Given the description of an element on the screen output the (x, y) to click on. 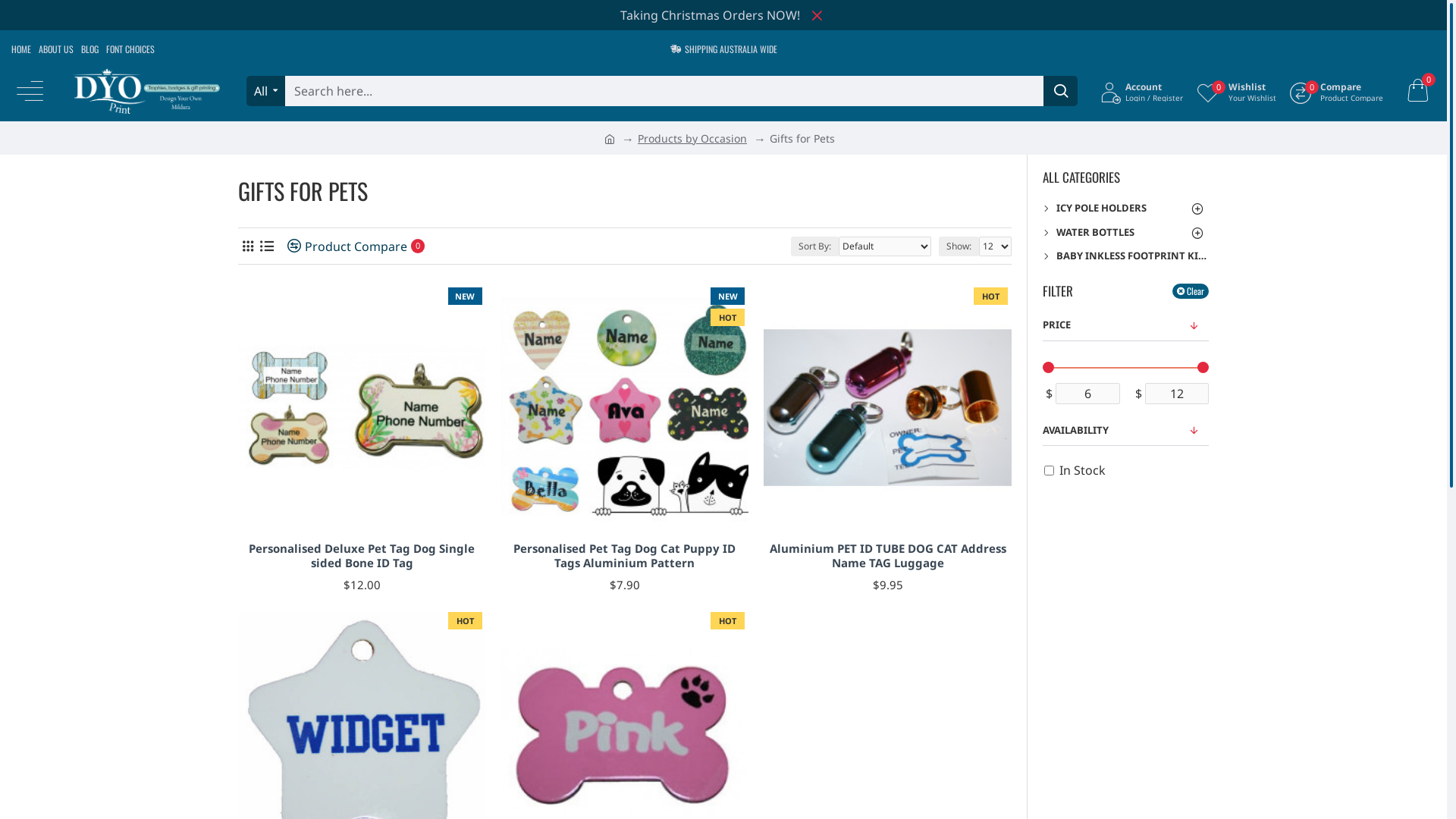
ABOUT US Element type: text (55, 48)
BABY INKLESS FOOTPRINT KITS Element type: text (1125, 256)
ICY POLE HOLDERS Element type: text (1125, 208)
DYO Print  Element type: hover (145, 90)
AVAILABILITY Element type: text (1125, 430)
Personalised Deluxe Pet Tag Dog Single sided Bone ID Tag Element type: hover (362, 407)
Aluminium PET ID TUBE DOG CAT Address Name TAG Luggage  Element type: hover (887, 407)
PRICE Element type: text (1125, 325)
Compare
Product Compare
0 Element type: text (1336, 90)
Gifts for Pets Element type: text (801, 138)
BLOG Element type: text (89, 48)
Wishlist
Your Wishlist
0 Element type: text (1236, 90)
Products by Occasion Element type: text (691, 138)
FONT CHOICES Element type: text (130, 48)
Personalised Pet Tag Dog Cat Puppy ID Tags Aluminium Pattern Element type: hover (625, 407)
0 Element type: text (1416, 90)
Personalised Deluxe Pet Tag Dog Single sided Bone ID Tag Element type: text (362, 556)
WATER BOTTLES Element type: text (1125, 232)
SHIPPING AUSTRALIA WIDE Element type: text (722, 48)
Personalised Pet Tag Dog Cat Puppy ID Tags Aluminium Pattern Element type: text (625, 556)
Product Compare
0 Element type: text (350, 245)
HOME Element type: text (20, 48)
Account
Login / Register Element type: text (1141, 90)
Aluminium PET ID TUBE DOG CAT Address Name TAG Luggage Element type: text (887, 556)
Clear Element type: text (1190, 290)
